Given the description of an element on the screen output the (x, y) to click on. 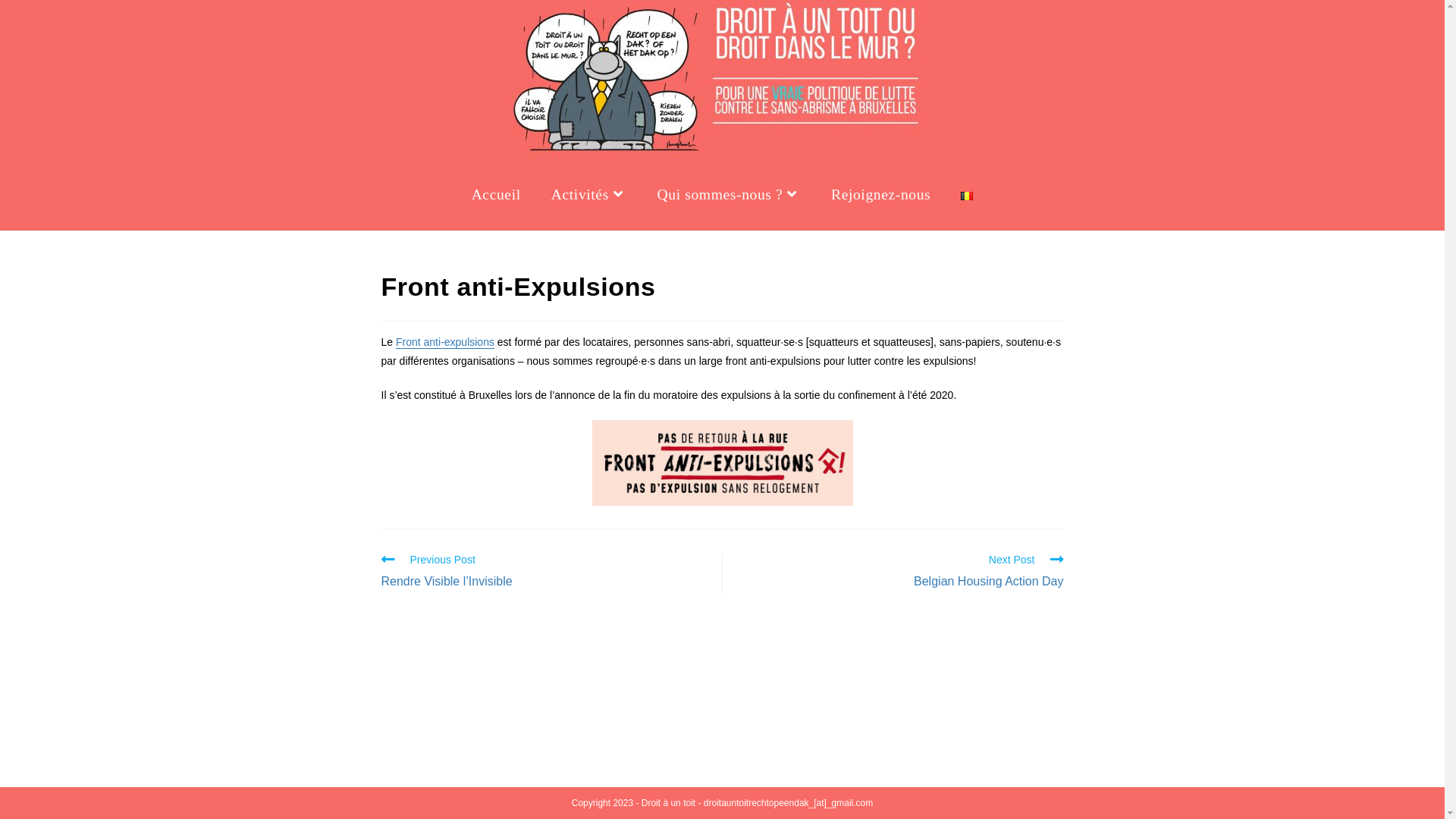
Accueil Element type: text (496, 194)
Qui sommes-nous ? Element type: text (728, 194)
Rejoignez-nous Element type: text (880, 194)
Next Post
Belgian Housing Action Day Element type: text (900, 572)
Front anti-expulsions Element type: text (444, 341)
